Given the description of an element on the screen output the (x, y) to click on. 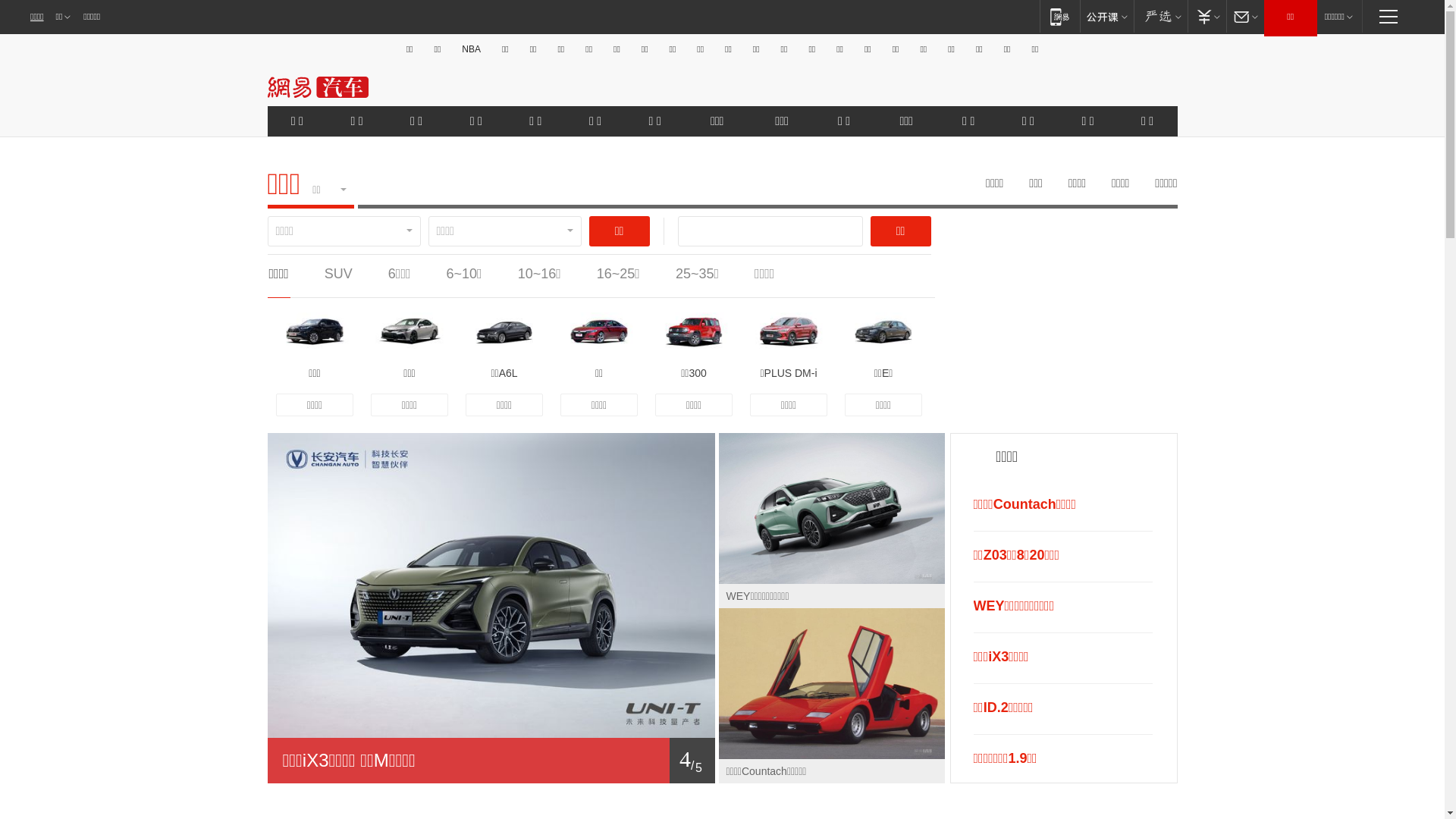
1/ 5 Element type: text (490, 760)
SUV Element type: text (338, 273)
NBA Element type: text (471, 48)
